Given the description of an element on the screen output the (x, y) to click on. 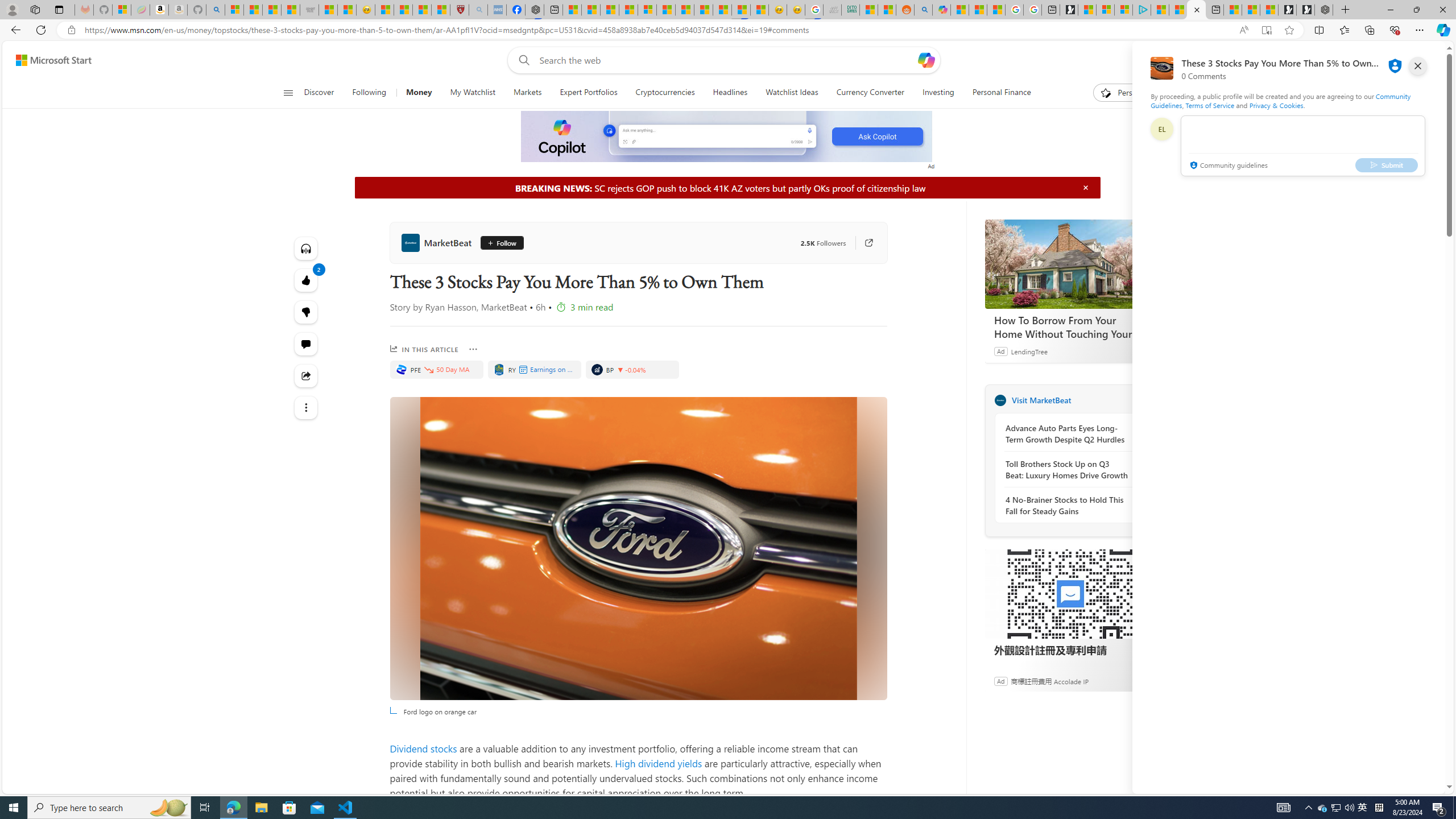
Expert Portfolios (588, 92)
High dividend yields (657, 762)
ROYAL BANK OF CANADA (499, 369)
Community Guidelines (1280, 100)
Class: button-glyph (287, 92)
Combat Siege (309, 9)
Enter Immersive Reader (F9) (1266, 29)
14 Common Myths Debunked By Scientific Facts (702, 9)
LendingTree (1029, 351)
Advance Auto Parts Eyes Long-Term Growth Despite Q2 Hurdles (1066, 433)
